Given the description of an element on the screen output the (x, y) to click on. 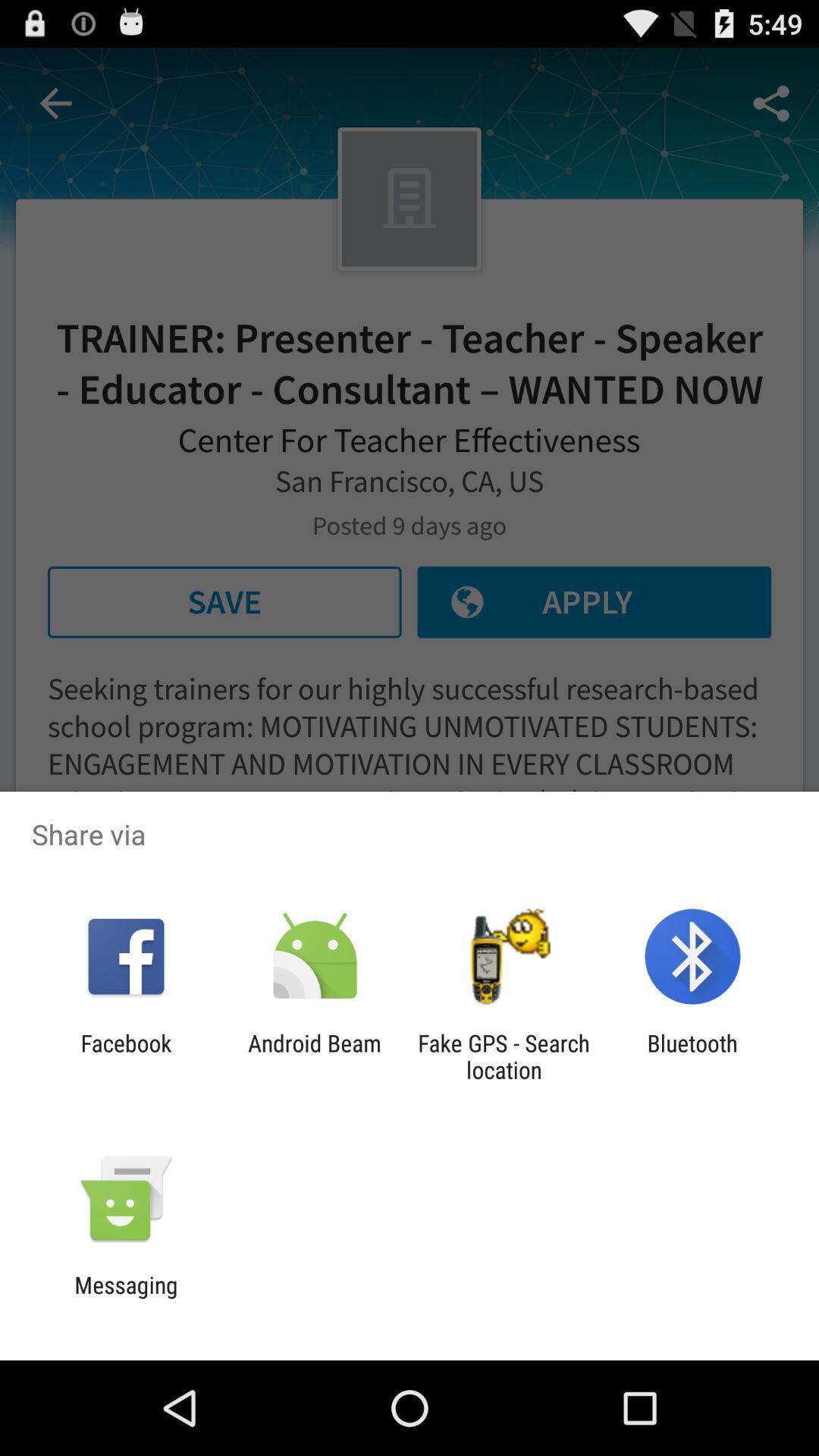
scroll to the android beam (314, 1056)
